Given the description of an element on the screen output the (x, y) to click on. 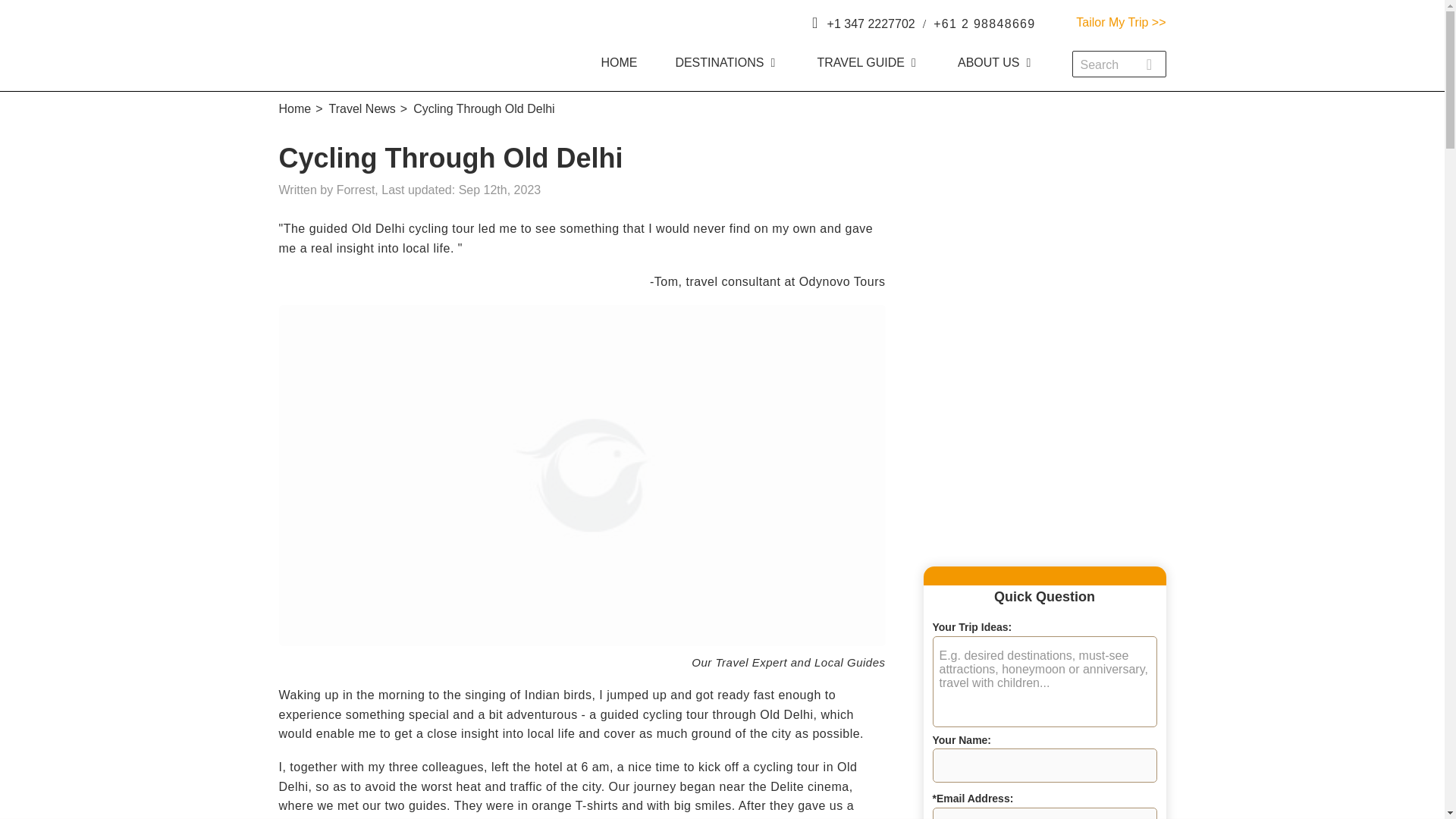
TRAVEL GUIDE (868, 62)
ABOUT US (996, 62)
DESTINATIONS (726, 62)
Home (295, 108)
HOME (627, 62)
